Given the description of an element on the screen output the (x, y) to click on. 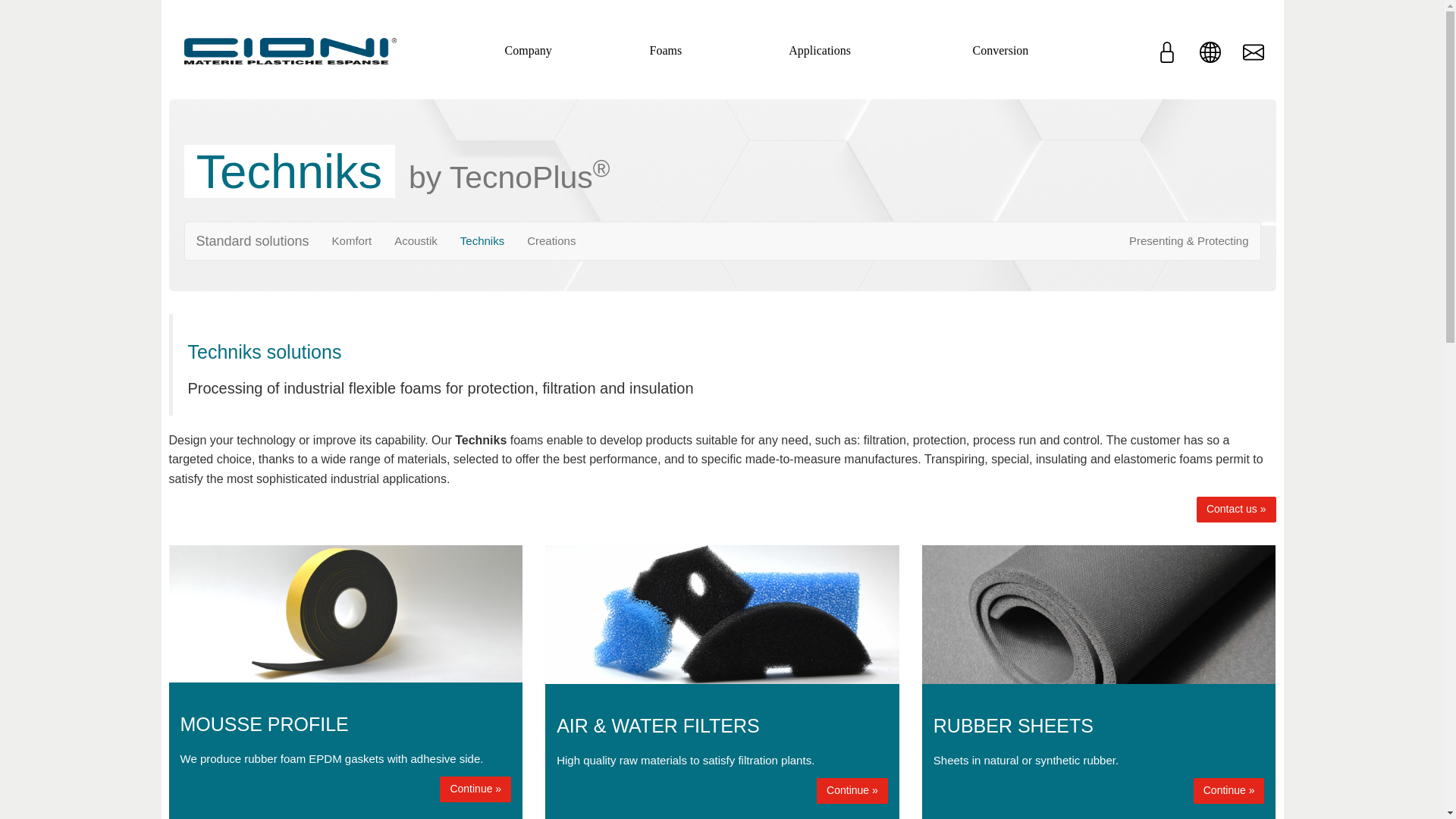
Login (1166, 58)
Italiano (1210, 58)
Applications (818, 50)
Contatti (1253, 58)
Foams (665, 50)
Contact us (1236, 509)
Company (528, 50)
